Given the description of an element on the screen output the (x, y) to click on. 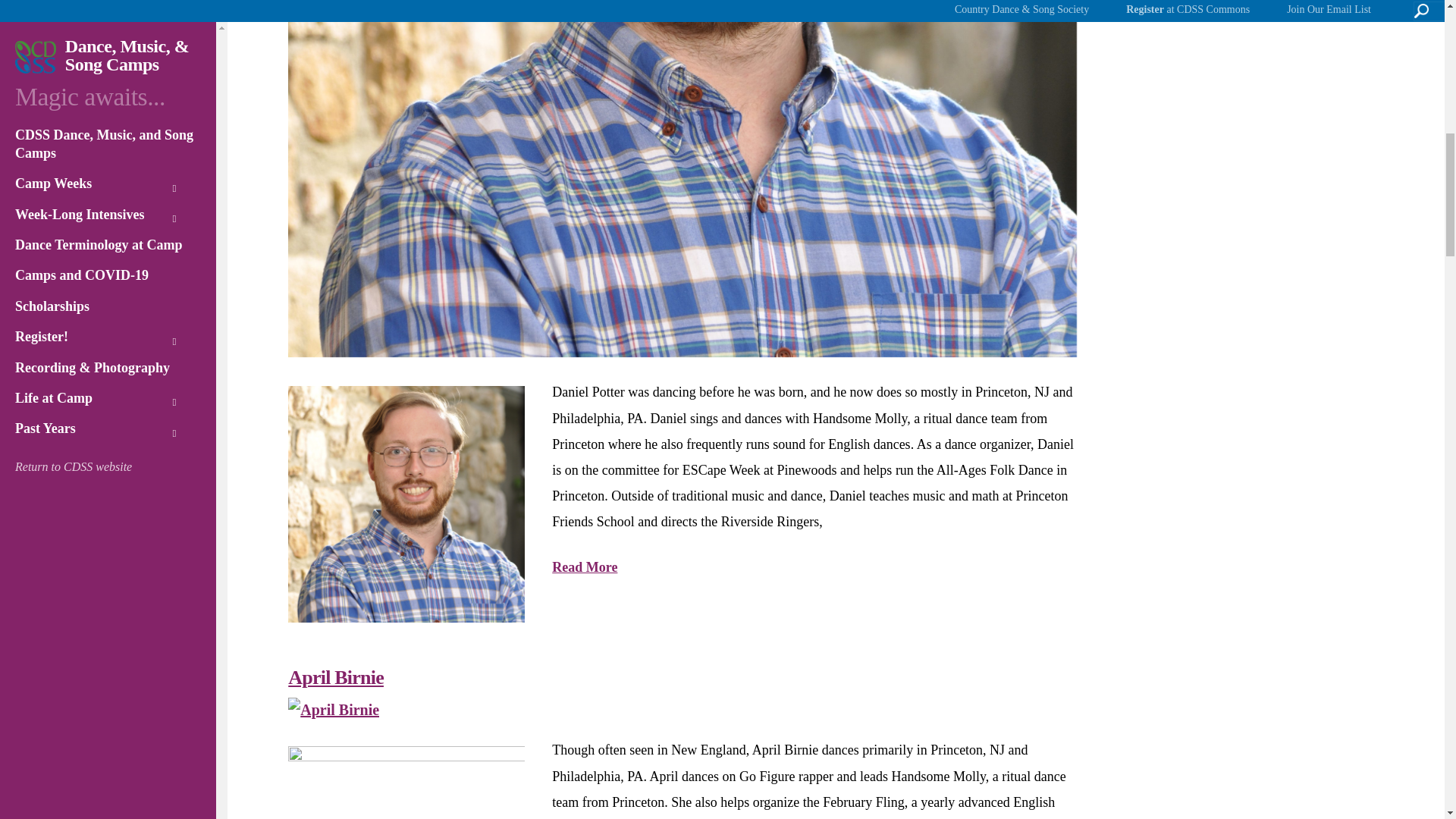
April Birnie (333, 709)
